Given the description of an element on the screen output the (x, y) to click on. 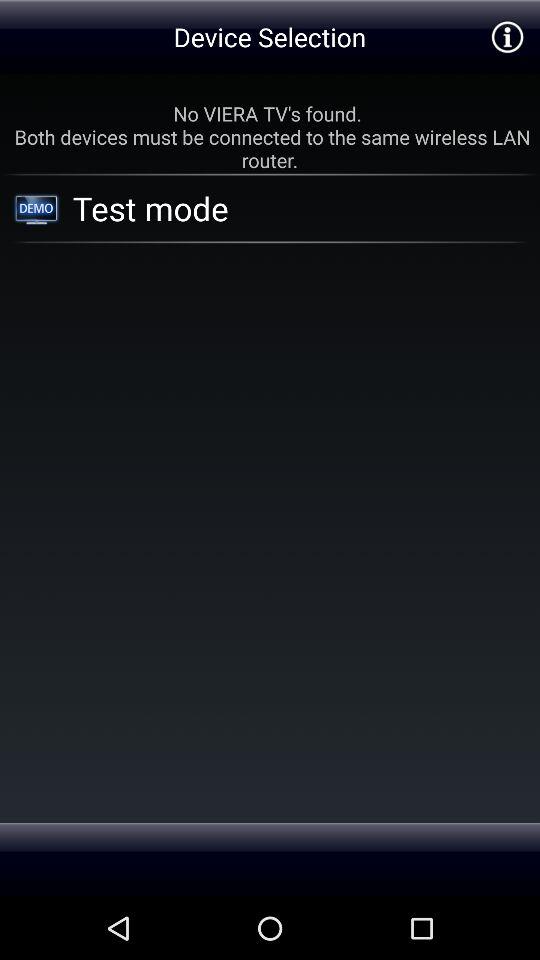
flip until test mode (275, 208)
